Given the description of an element on the screen output the (x, y) to click on. 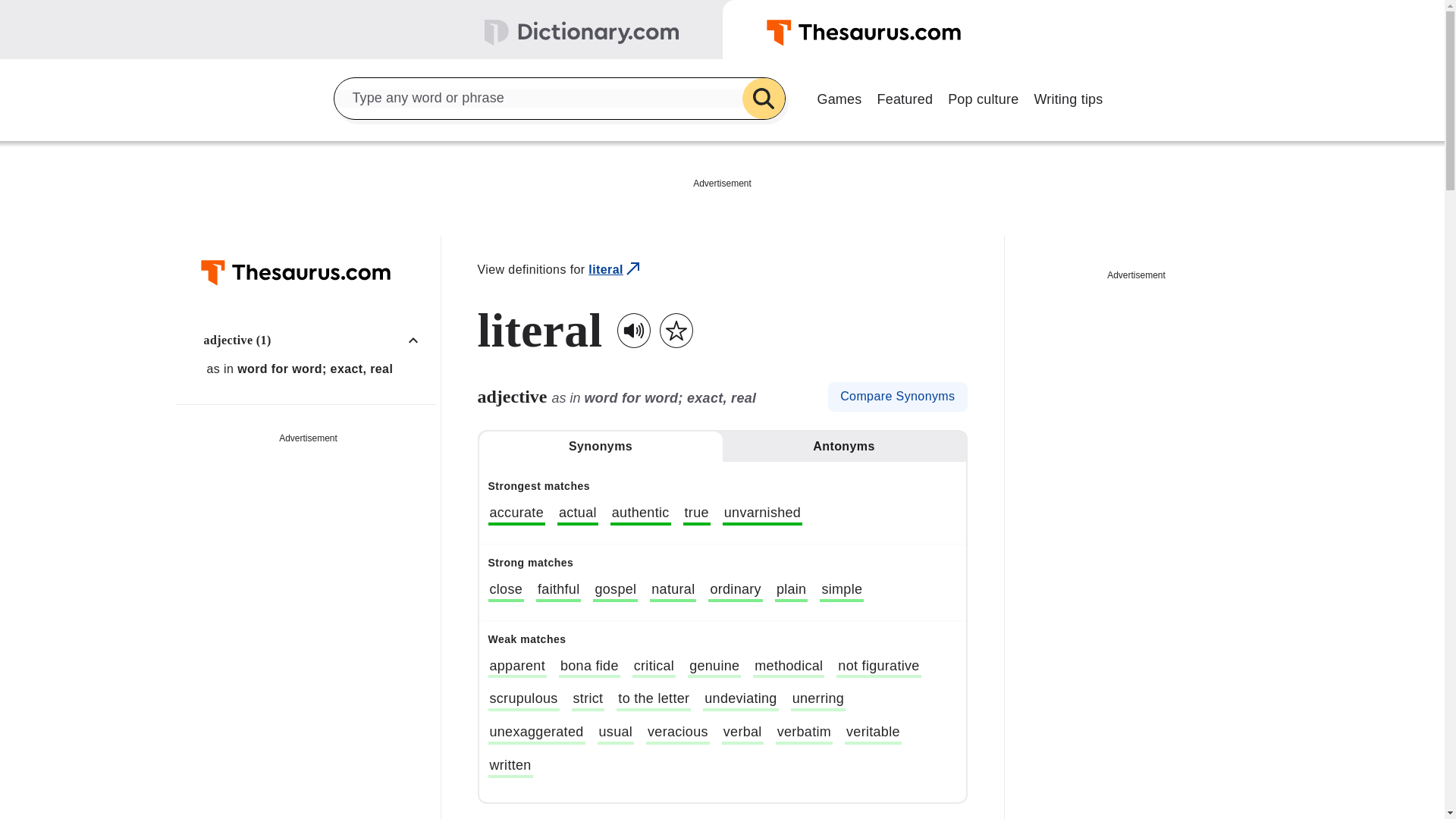
Compare Synonyms (897, 396)
as in word for word; exact, real (316, 369)
Antonyms (843, 446)
Writing tips (1067, 97)
Synonyms (600, 446)
Games (839, 97)
accurate (515, 514)
literal (615, 270)
Featured (904, 97)
Pop culture (983, 97)
